Given the description of an element on the screen output the (x, y) to click on. 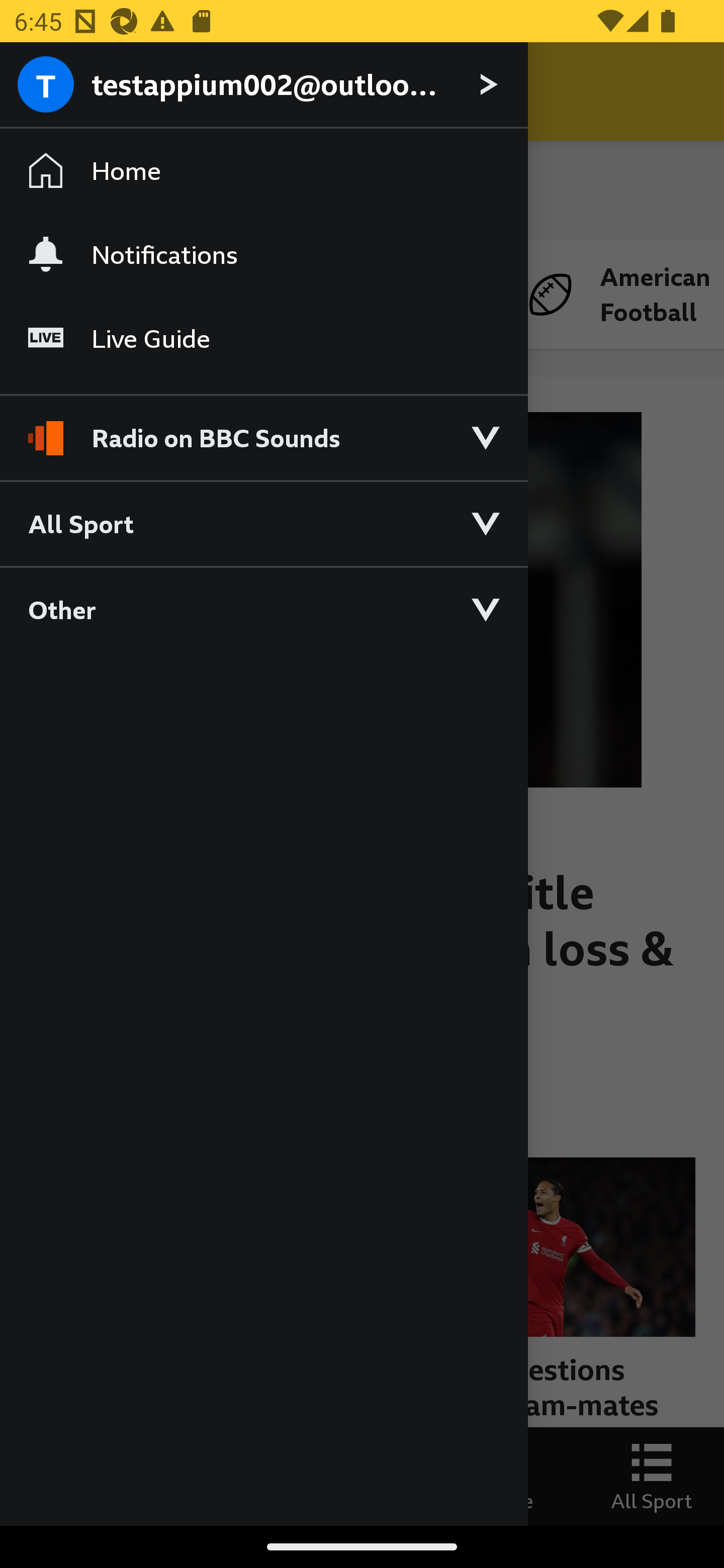
testappium002@outlook.com (263, 85)
Home (263, 170)
Notifications (263, 253)
Live Guide (263, 338)
Radio on BBC Sounds (263, 429)
All Sport (263, 522)
Other (263, 609)
